Given the description of an element on the screen output the (x, y) to click on. 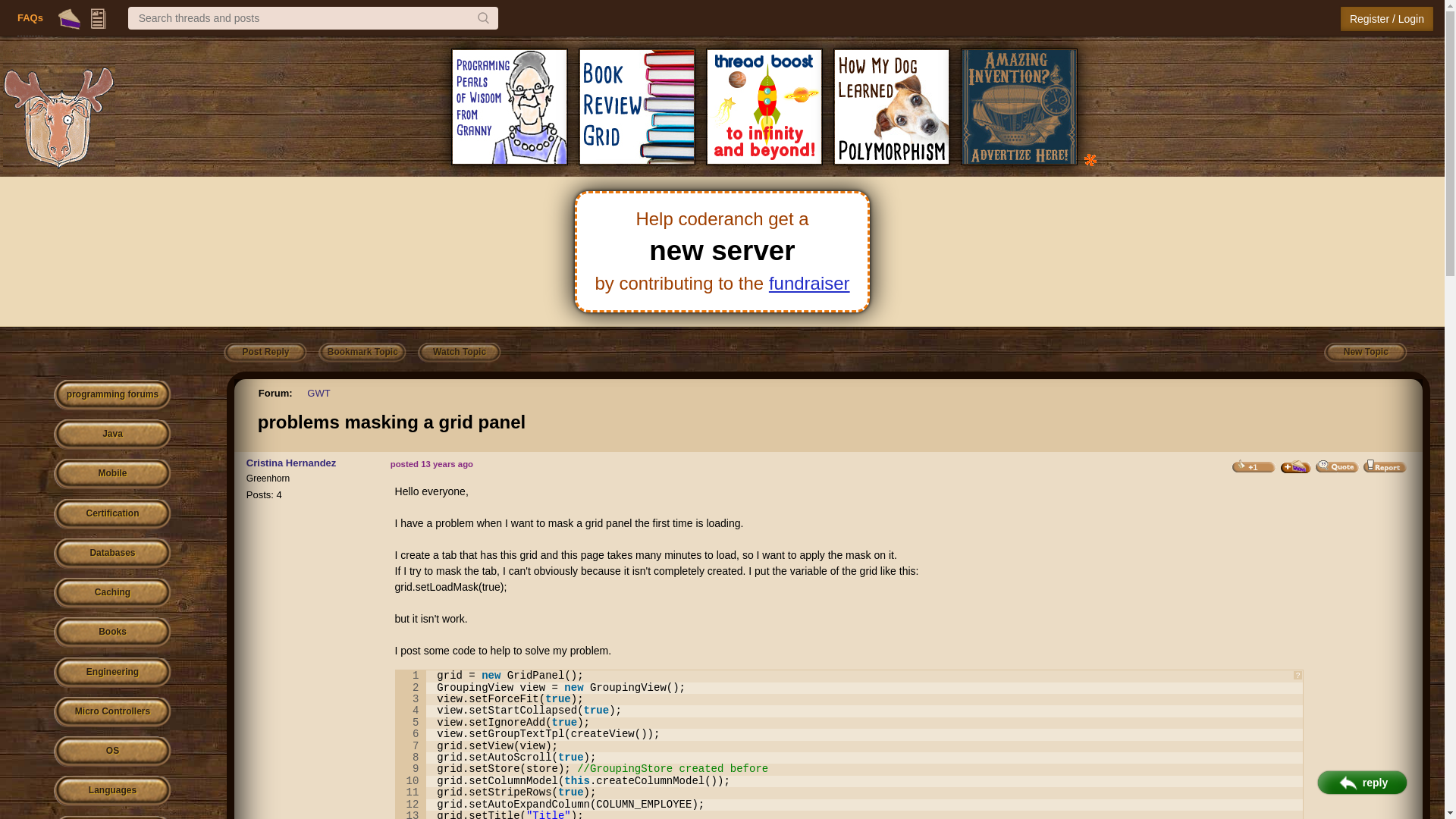
You must log in or register to be able to reply (265, 352)
Books (112, 632)
Mobile (112, 473)
Certification (112, 513)
Books (112, 632)
OS (112, 751)
Mobile (112, 473)
Micro Controllers (112, 712)
Databases (112, 553)
Caching (112, 593)
Databases (112, 553)
Caching (112, 593)
Languages (112, 790)
Engineering (112, 672)
You must log in or register to be able to create a new topic (1365, 352)
